Given the description of an element on the screen output the (x, y) to click on. 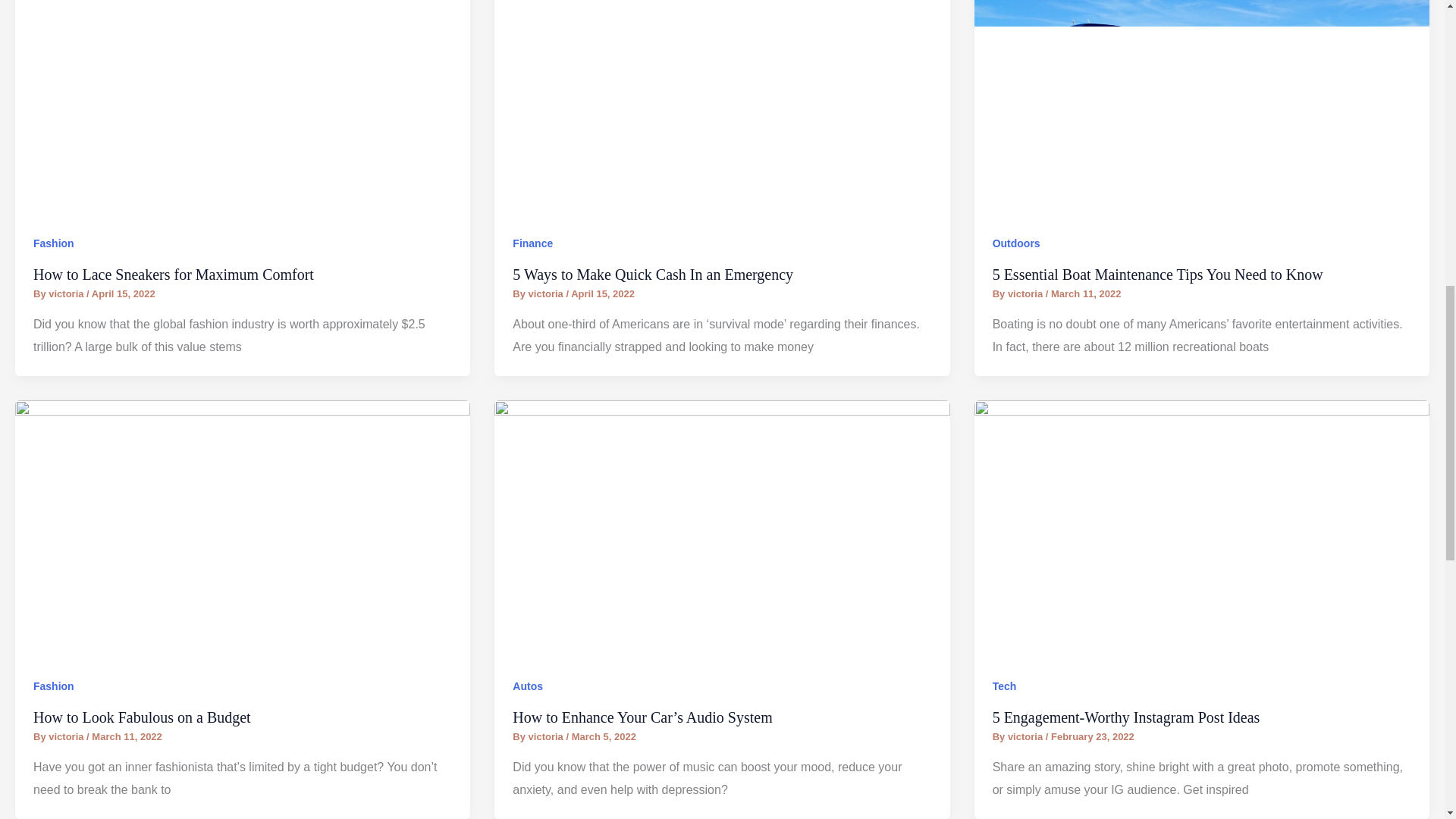
View all posts by victoria (66, 293)
View all posts by victoria (547, 736)
View all posts by victoria (547, 293)
View all posts by victoria (66, 736)
View all posts by victoria (1026, 736)
View all posts by victoria (1026, 293)
